Given the description of an element on the screen output the (x, y) to click on. 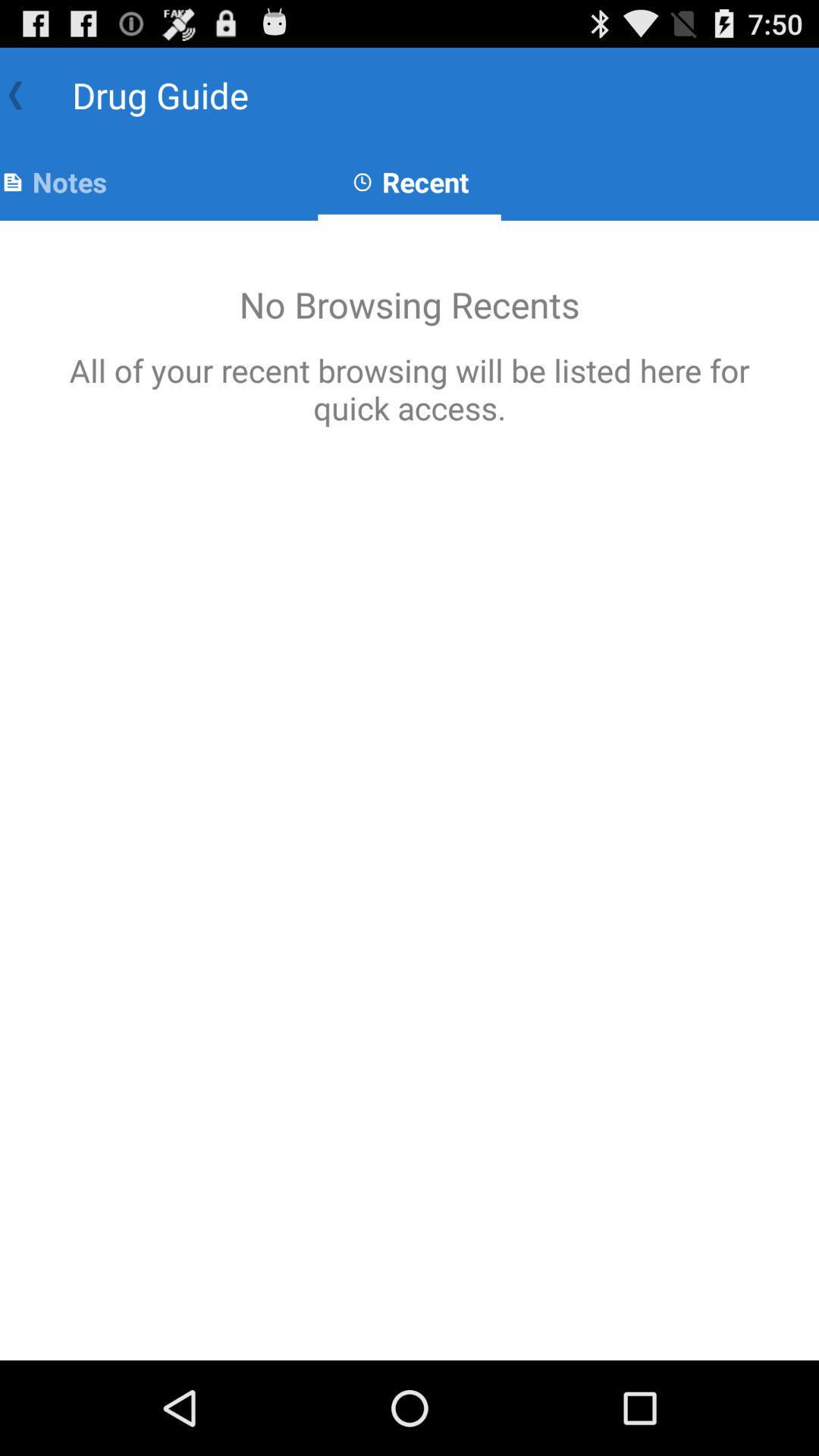
open app below the drug guide app (53, 181)
